Given the description of an element on the screen output the (x, y) to click on. 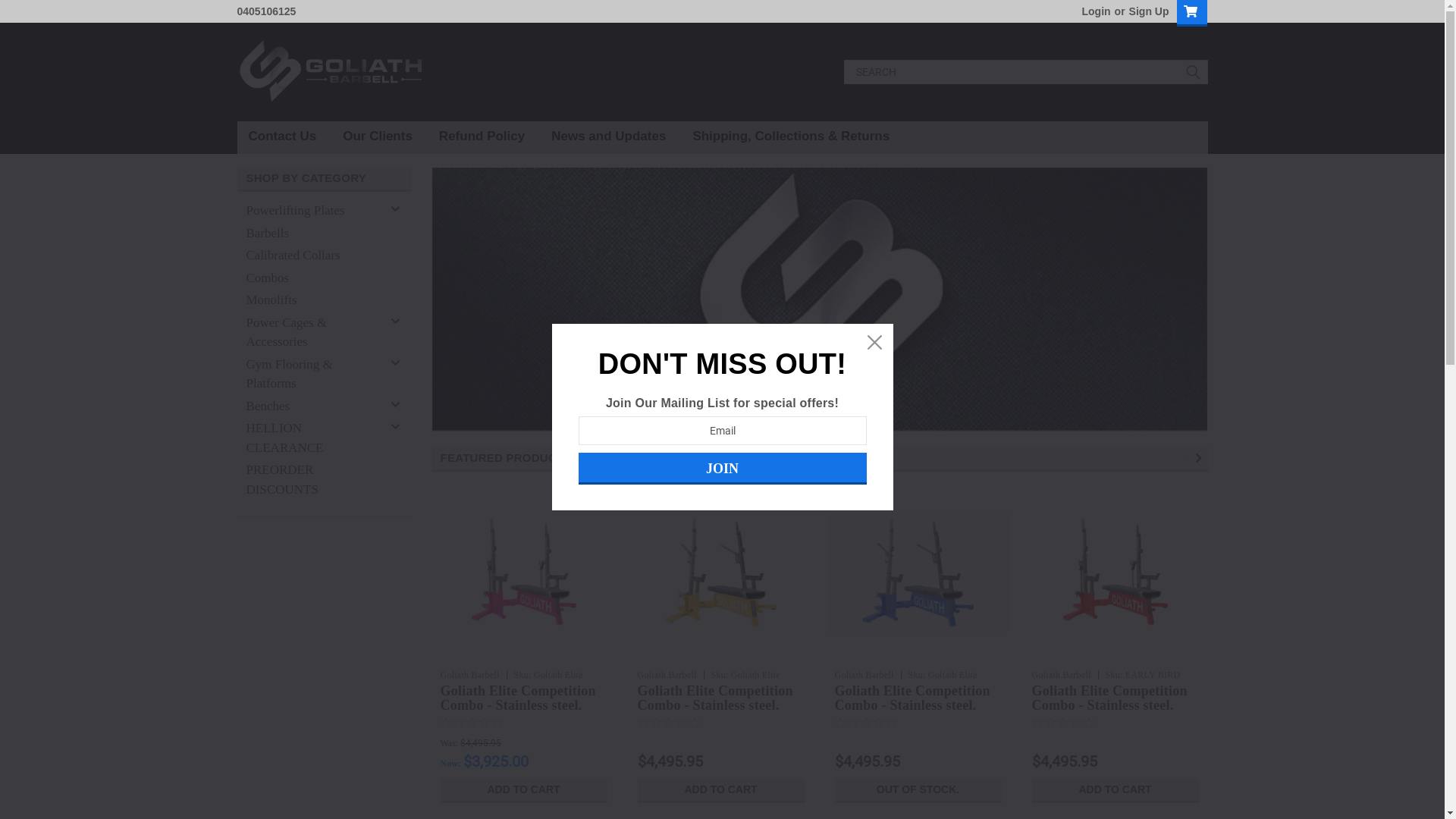
Our Clients Element type: text (390, 136)
Goliath Barbell Element type: text (666, 674)
Login Element type: text (1095, 11)
Power Cages & Accessories Element type: text (310, 331)
submit Element type: hover (1191, 71)
Goliath Barbell Element type: text (863, 674)
ADD TO CART Element type: text (522, 790)
Combos Element type: text (310, 277)
PREORDER DISCOUNTS Element type: text (310, 479)
Previous Element type: text (1186, 457)
Contact Us Element type: text (295, 136)
ADD TO CART Element type: text (720, 790)
ADD TO CART Element type: text (1114, 790)
OUT OF STOCK. Element type: text (917, 790)
Gym Flooring & Platforms Element type: text (310, 374)
HELLION CLEARANCE Element type: text (310, 437)
Goliath Barbell Element type: hover (331, 71)
Next Element type: text (1200, 457)
Goliath Barbell Element type: text (468, 674)
Powerlifting Plates Element type: text (310, 210)
Benches Element type: text (310, 405)
Shipping, Collections & Returns Element type: text (804, 136)
Calibrated Collars Element type: text (310, 255)
Barbells Element type: text (310, 232)
News and Updates Element type: text (621, 136)
Monolifts Element type: text (310, 299)
Refund Policy Element type: text (495, 136)
Sign Up Element type: text (1147, 11)
Goliath Barbell Element type: text (1060, 674)
Join Element type: text (721, 468)
